Given the description of an element on the screen output the (x, y) to click on. 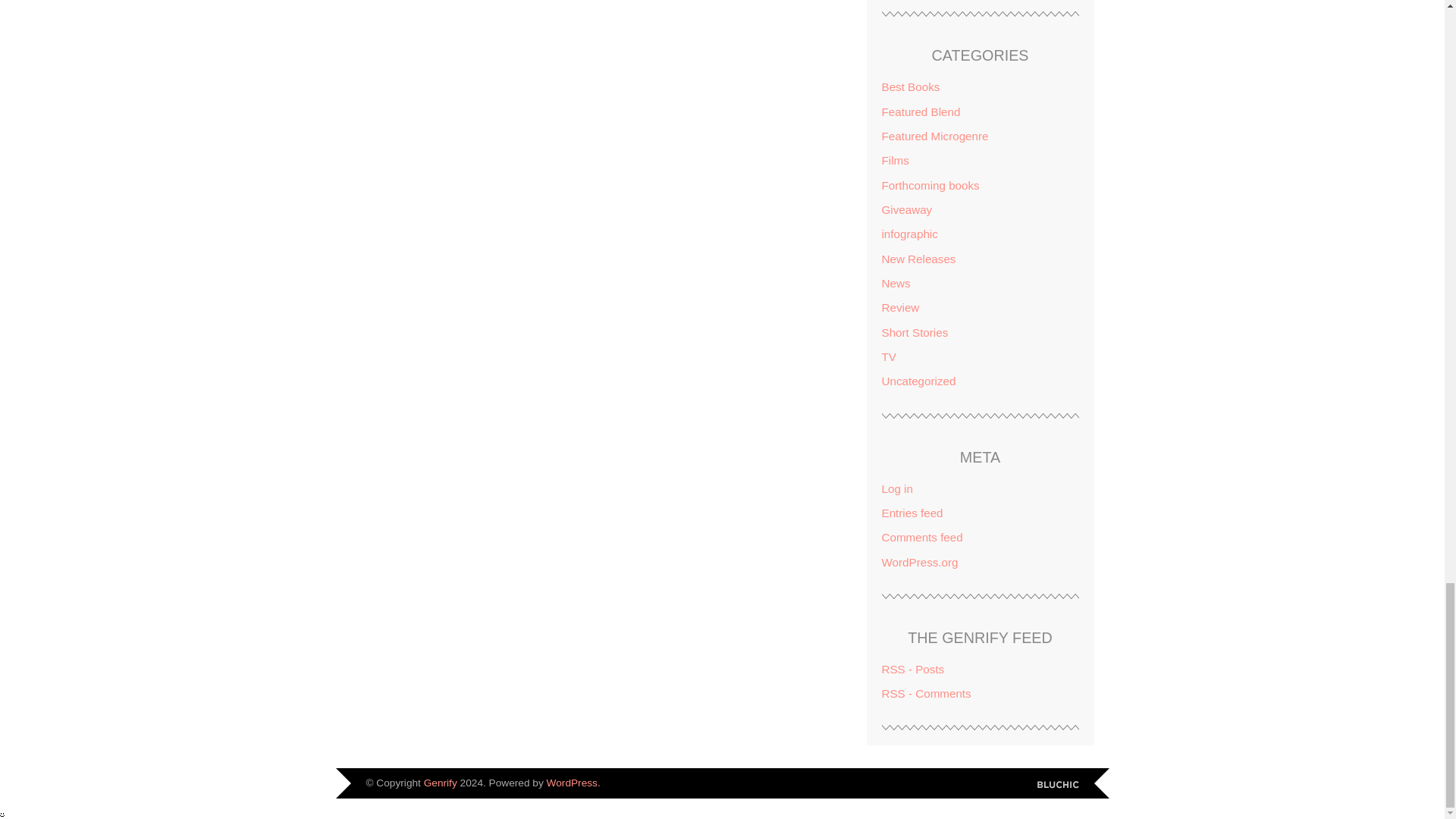
Theme designed by BluChic (1057, 785)
Subscribe to Comments (925, 693)
Subscribe to Posts (911, 668)
